Given the description of an element on the screen output the (x, y) to click on. 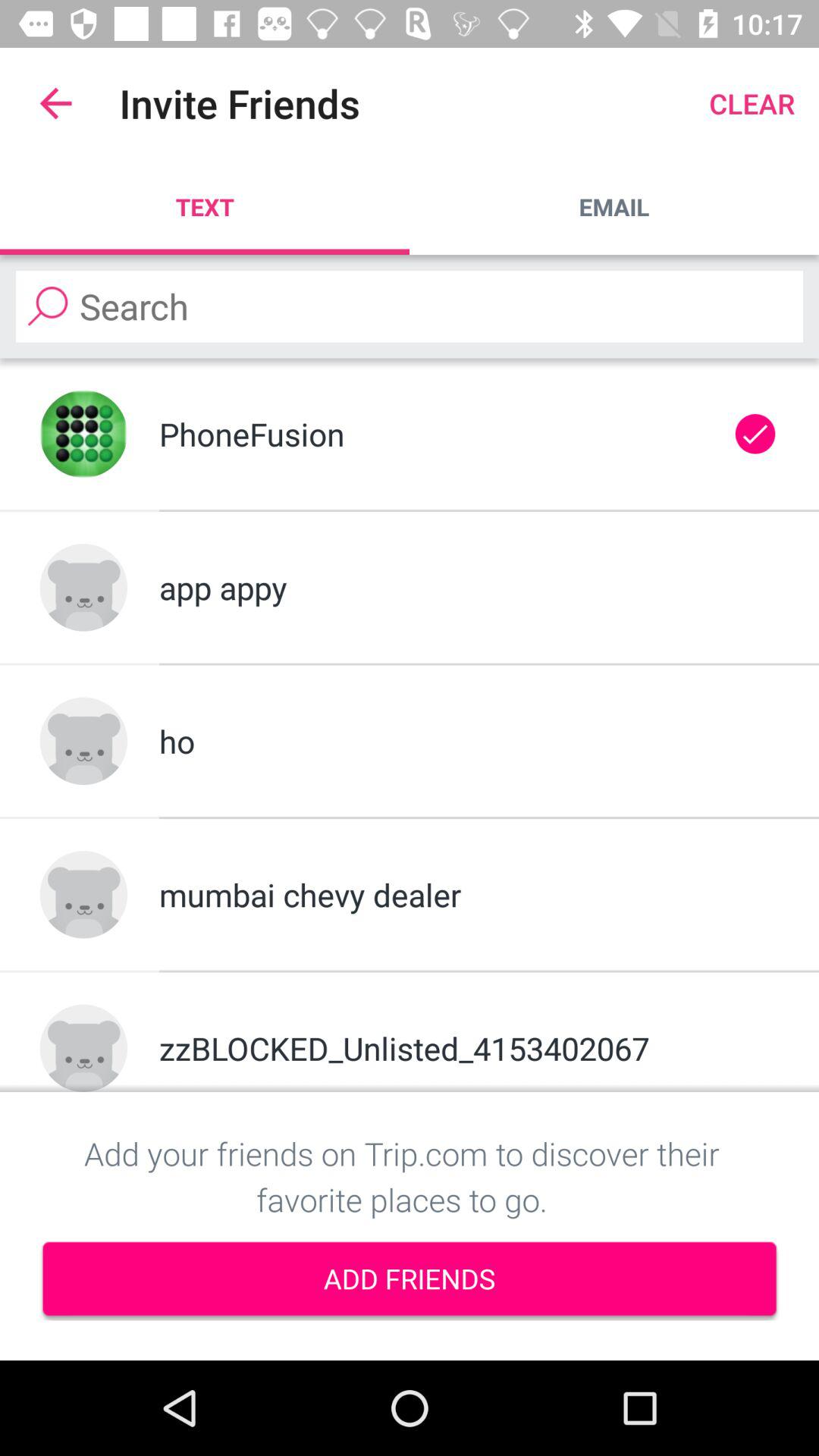
launch item above the app appy (435, 433)
